Given the description of an element on the screen output the (x, y) to click on. 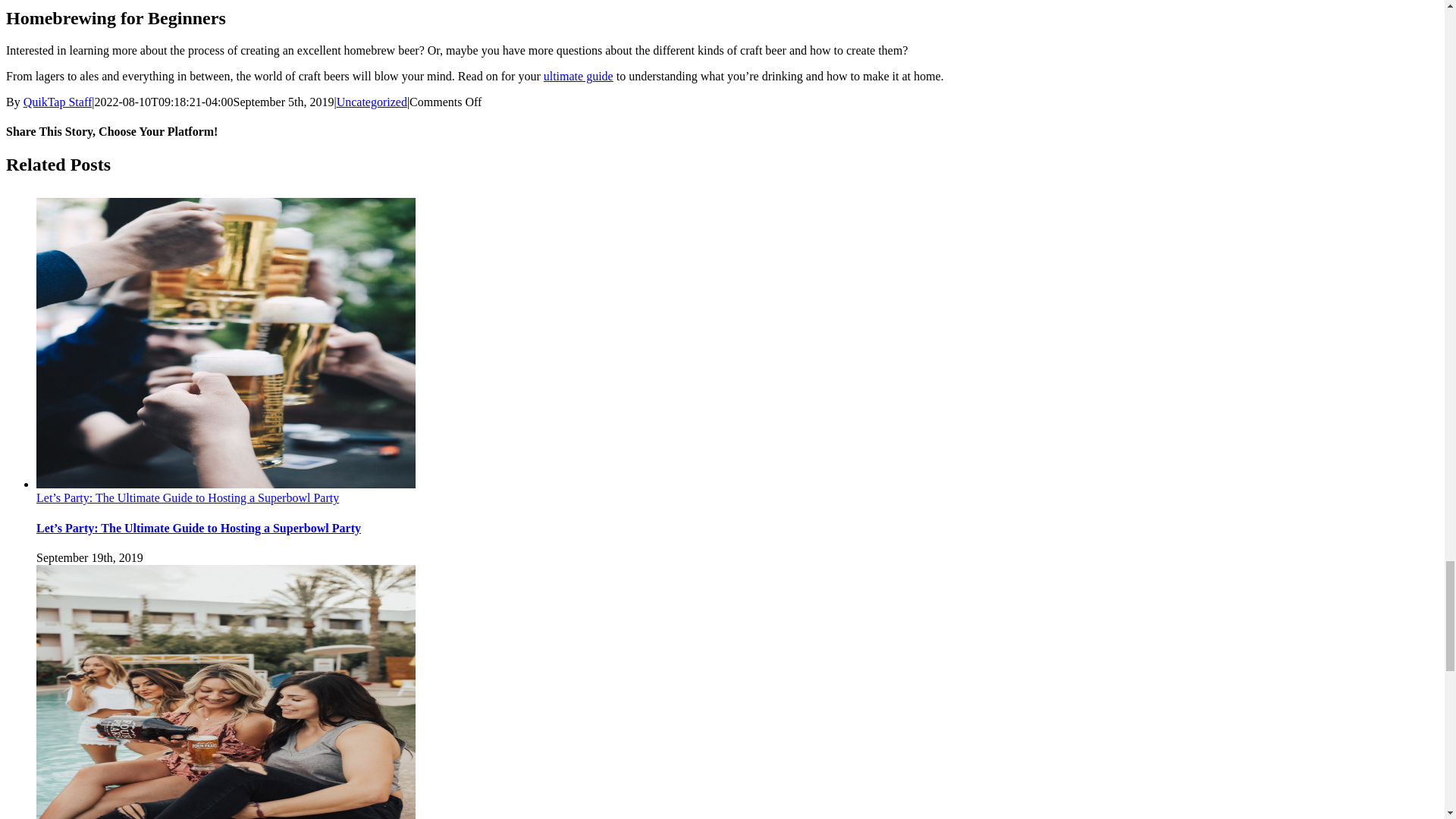
Posts by QuikTap Staff (58, 101)
